Given the description of an element on the screen output the (x, y) to click on. 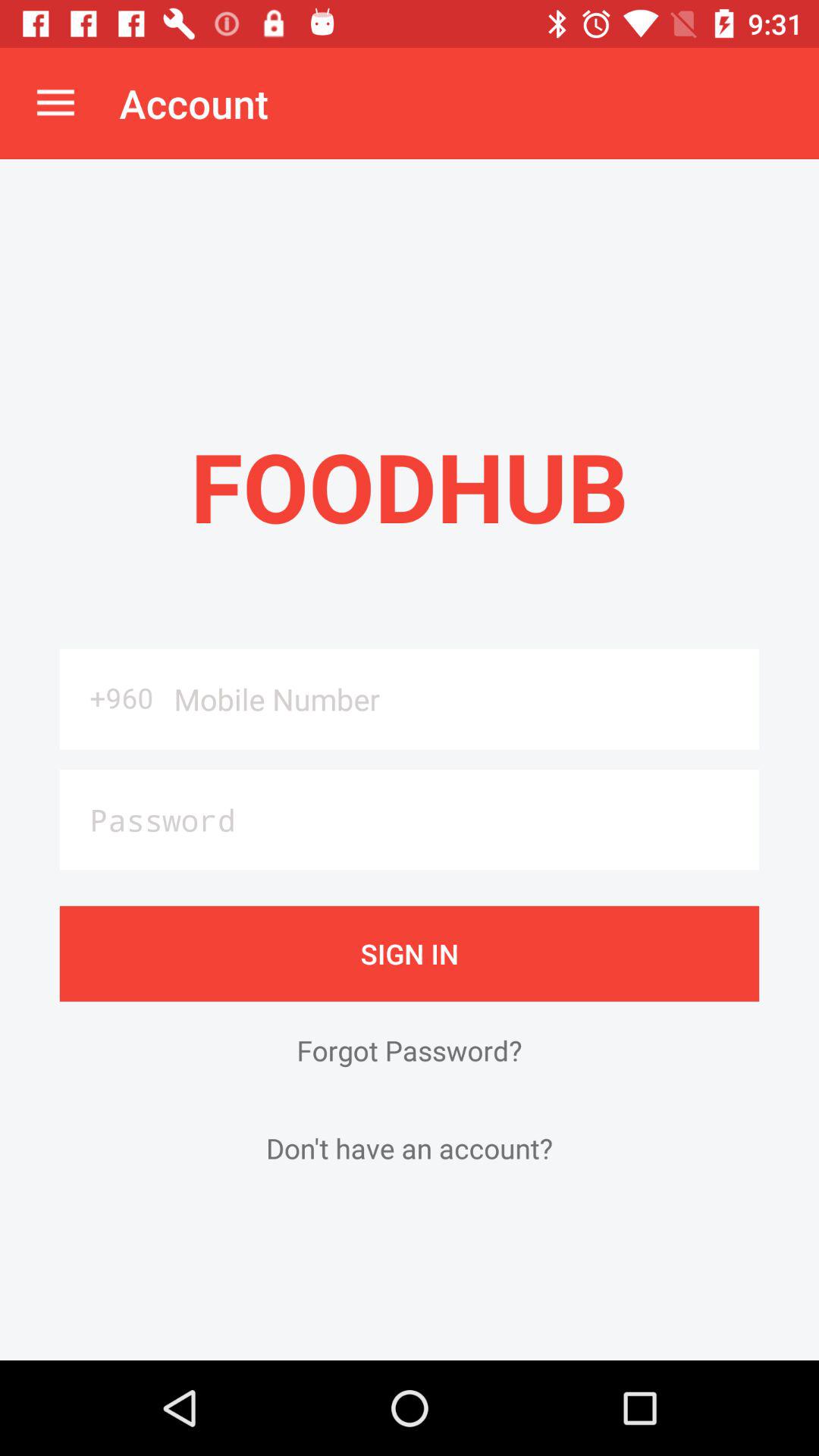
turn on the item to the left of the account (55, 103)
